Given the description of an element on the screen output the (x, y) to click on. 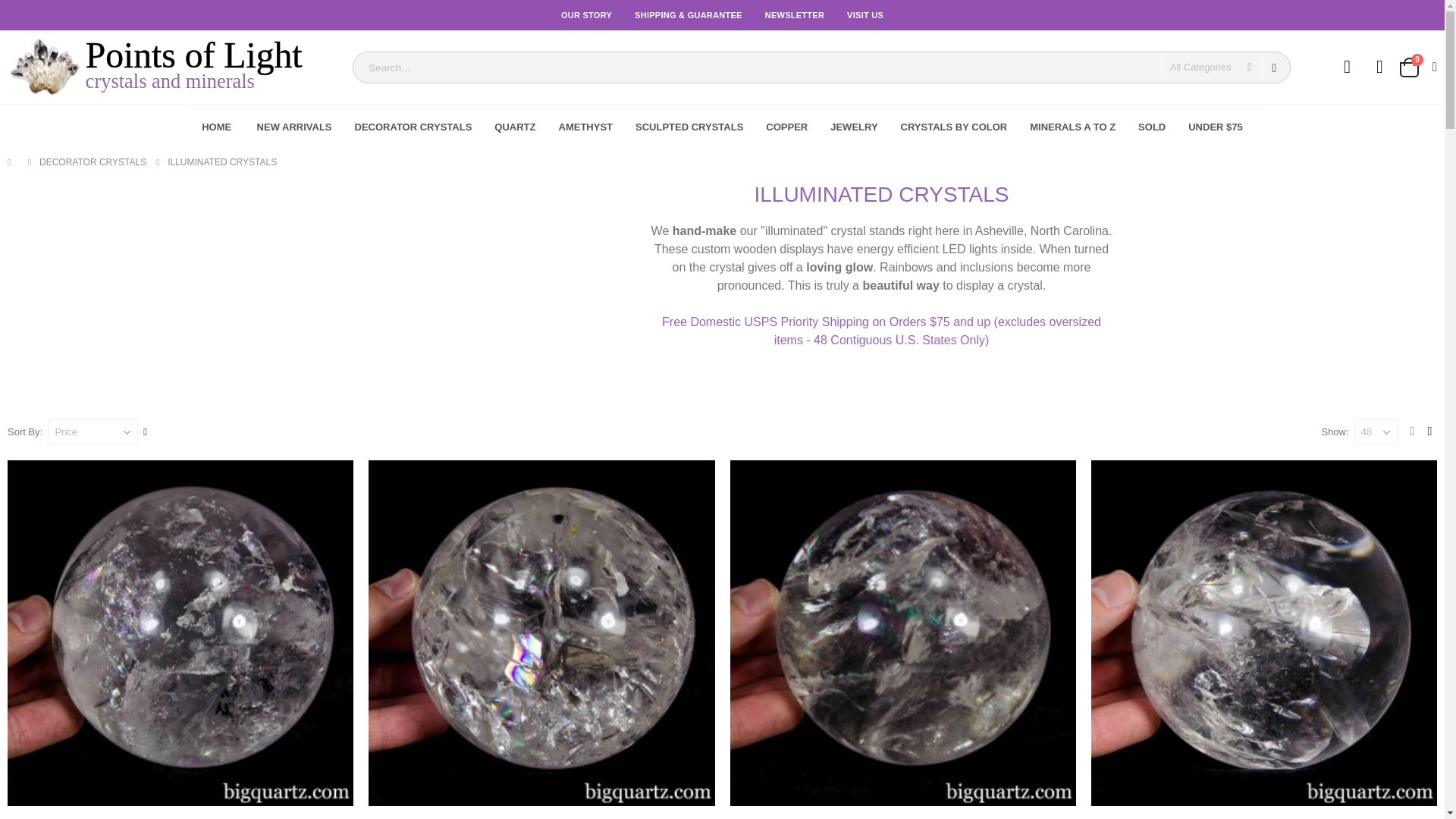
AMETHYST (585, 126)
Crystals by Color (954, 126)
NEW ARRIVALS (1417, 66)
JEWELRY (294, 126)
My Account (853, 126)
QUARTZ (1346, 69)
Grid (515, 126)
COPPER (1412, 432)
NEW ARRIVALS (786, 126)
